Given the description of an element on the screen output the (x, y) to click on. 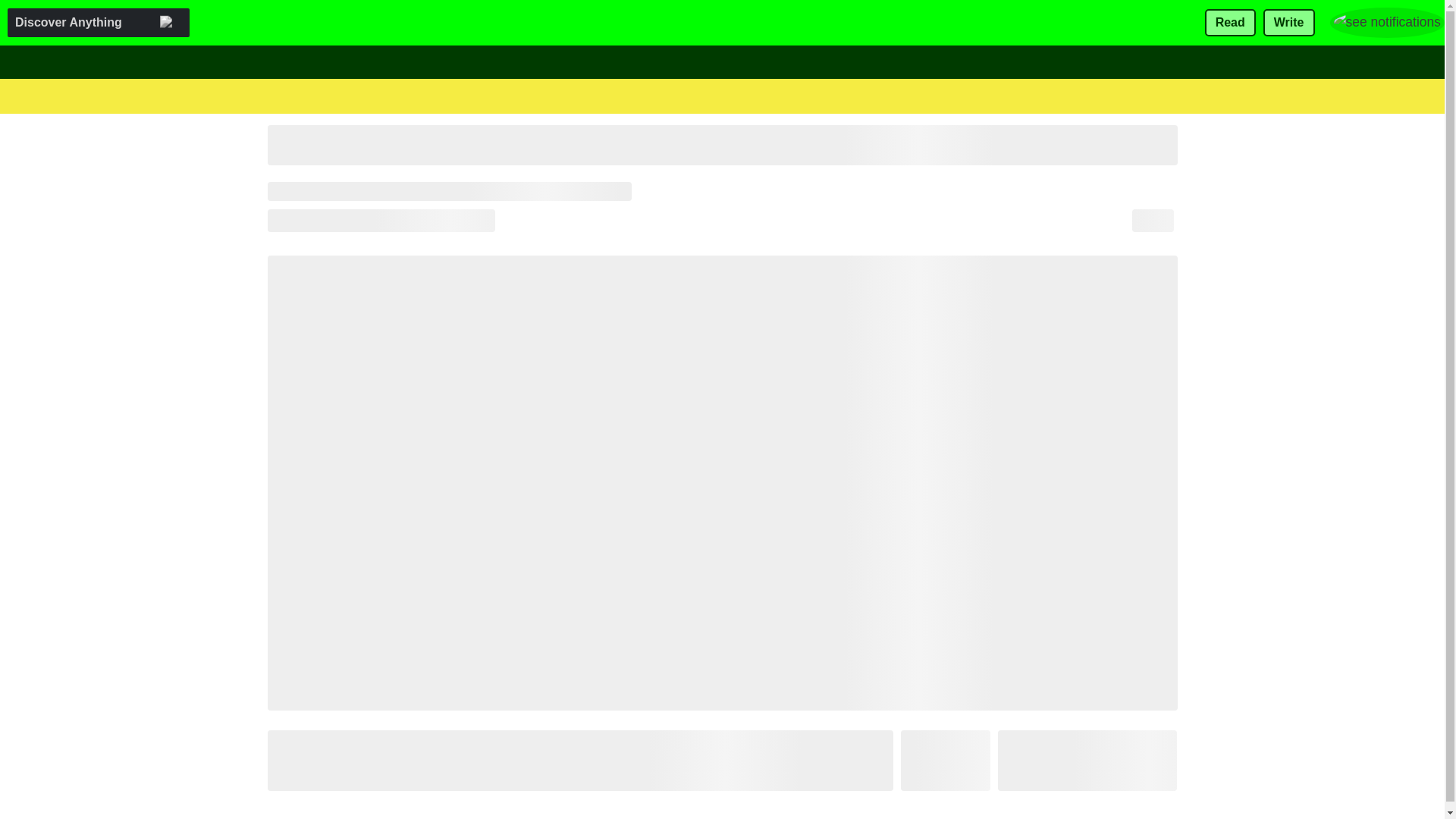
Read (1230, 22)
Write (1288, 22)
